Given the description of an element on the screen output the (x, y) to click on. 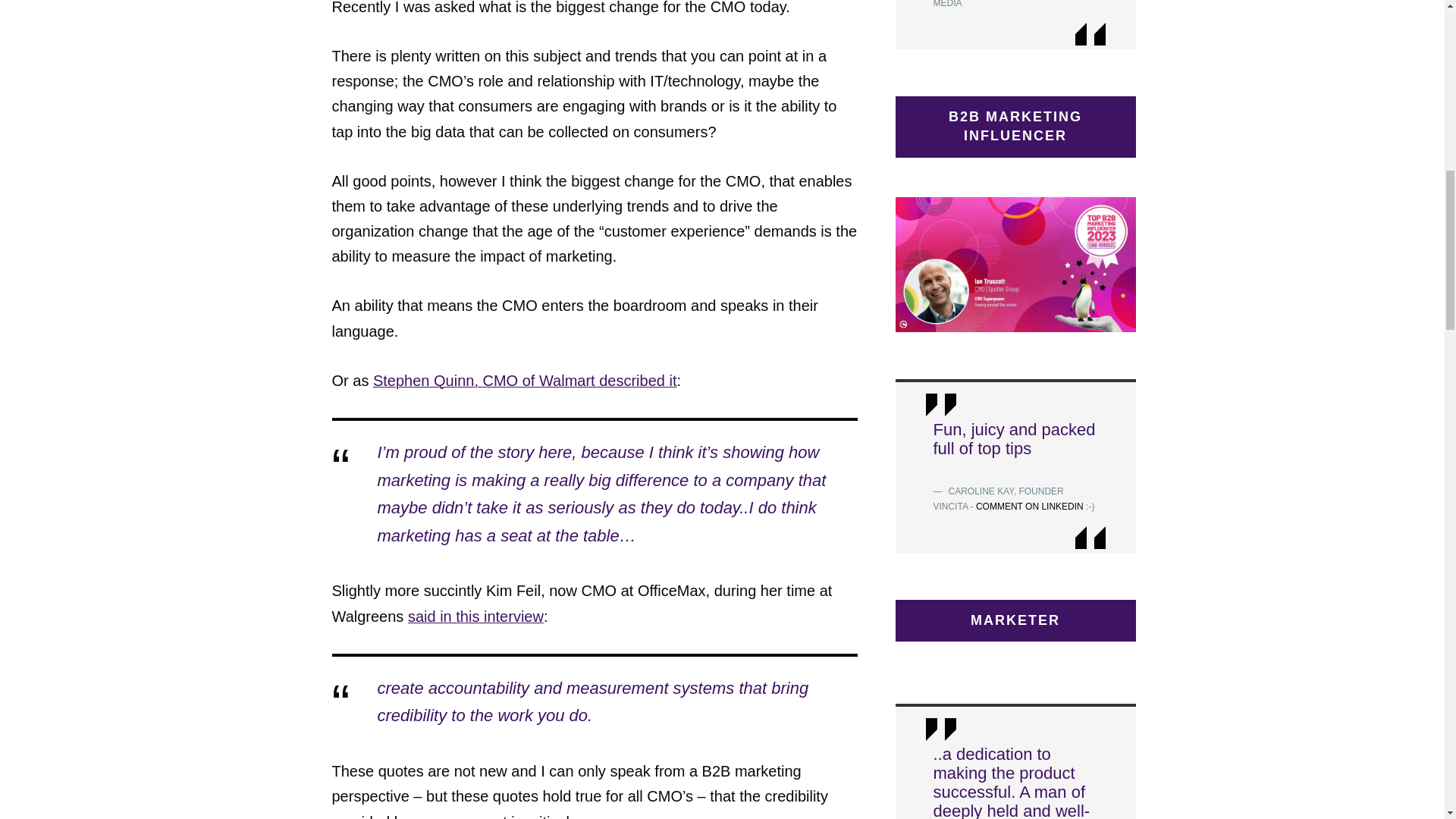
said in this interview (475, 616)
Stephen Quinn, CMO of Walmart described it (524, 380)
